Given the description of an element on the screen output the (x, y) to click on. 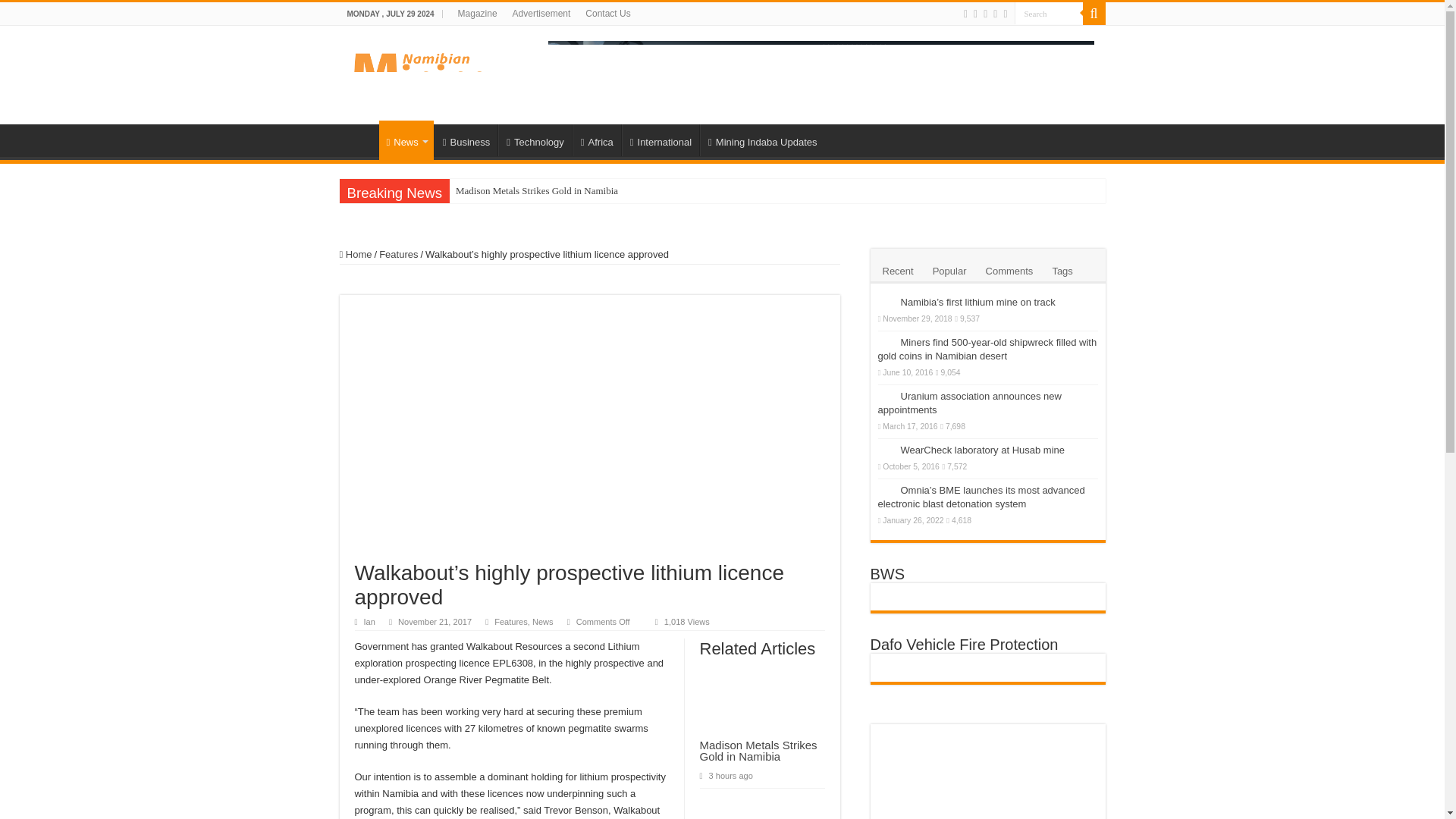
Africa (596, 140)
Search (1094, 13)
Advertisement (541, 13)
Namibian Mining News (421, 72)
Search (1048, 13)
Search (1048, 13)
Technology (534, 140)
Magazine (477, 13)
News (405, 139)
Business (465, 140)
Contact Us (607, 13)
Search (1048, 13)
International (659, 140)
